Given the description of an element on the screen output the (x, y) to click on. 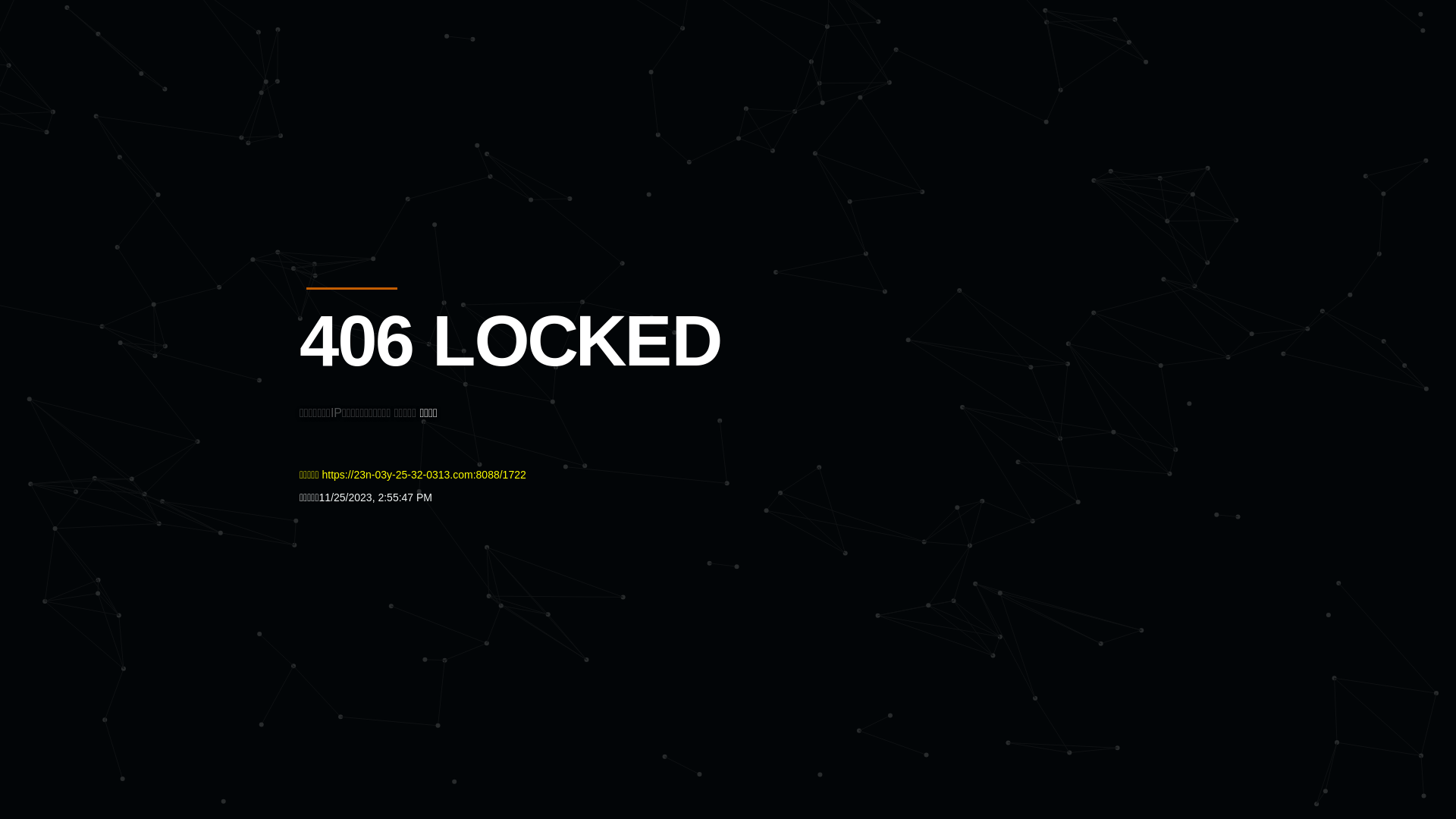
Quatro Element type: text (410, 86)
